Given the description of an element on the screen output the (x, y) to click on. 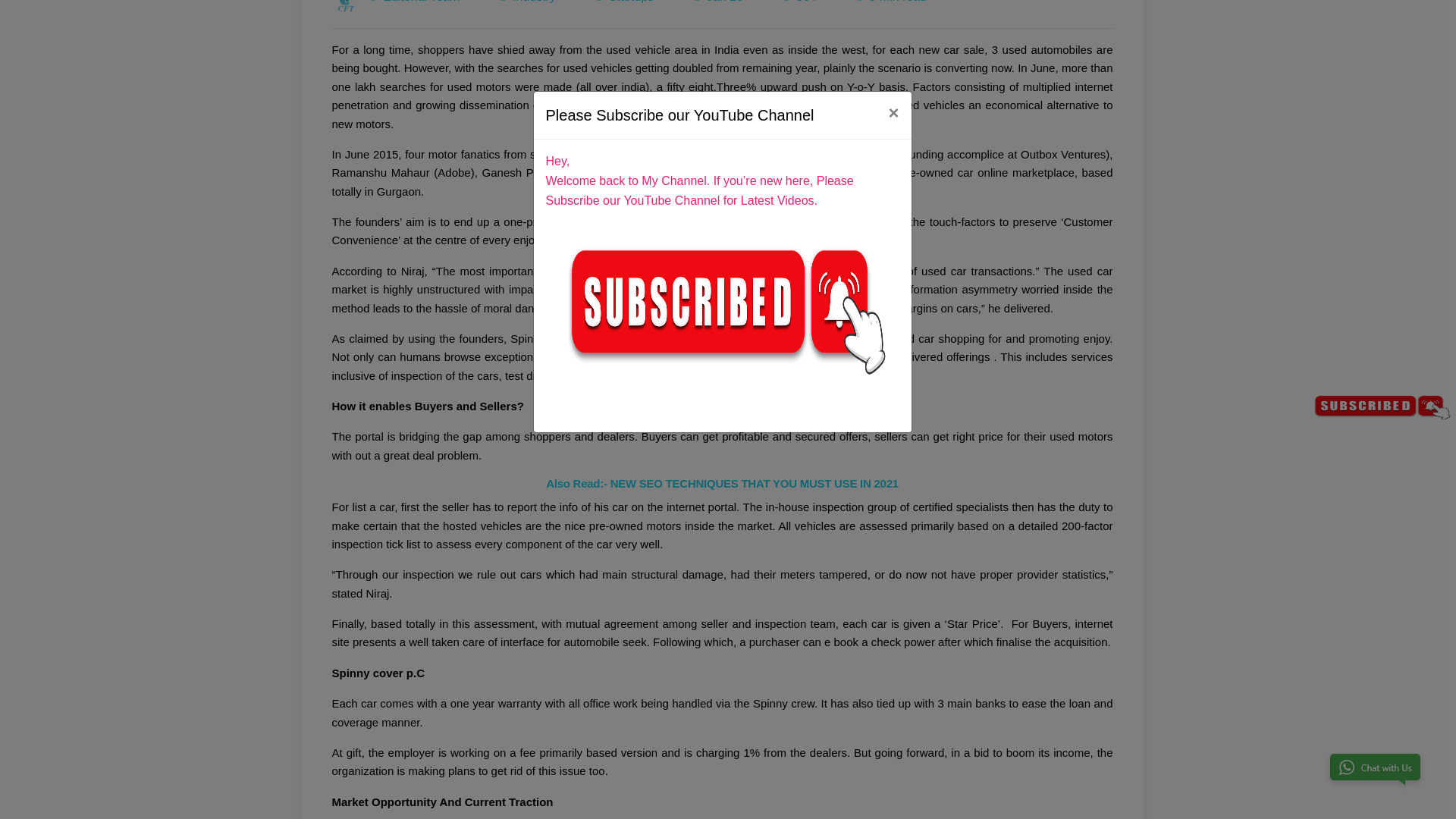
Editorial Team (421, 1)
Editorial Team (346, 6)
Industry (534, 1)
